Given the description of an element on the screen output the (x, y) to click on. 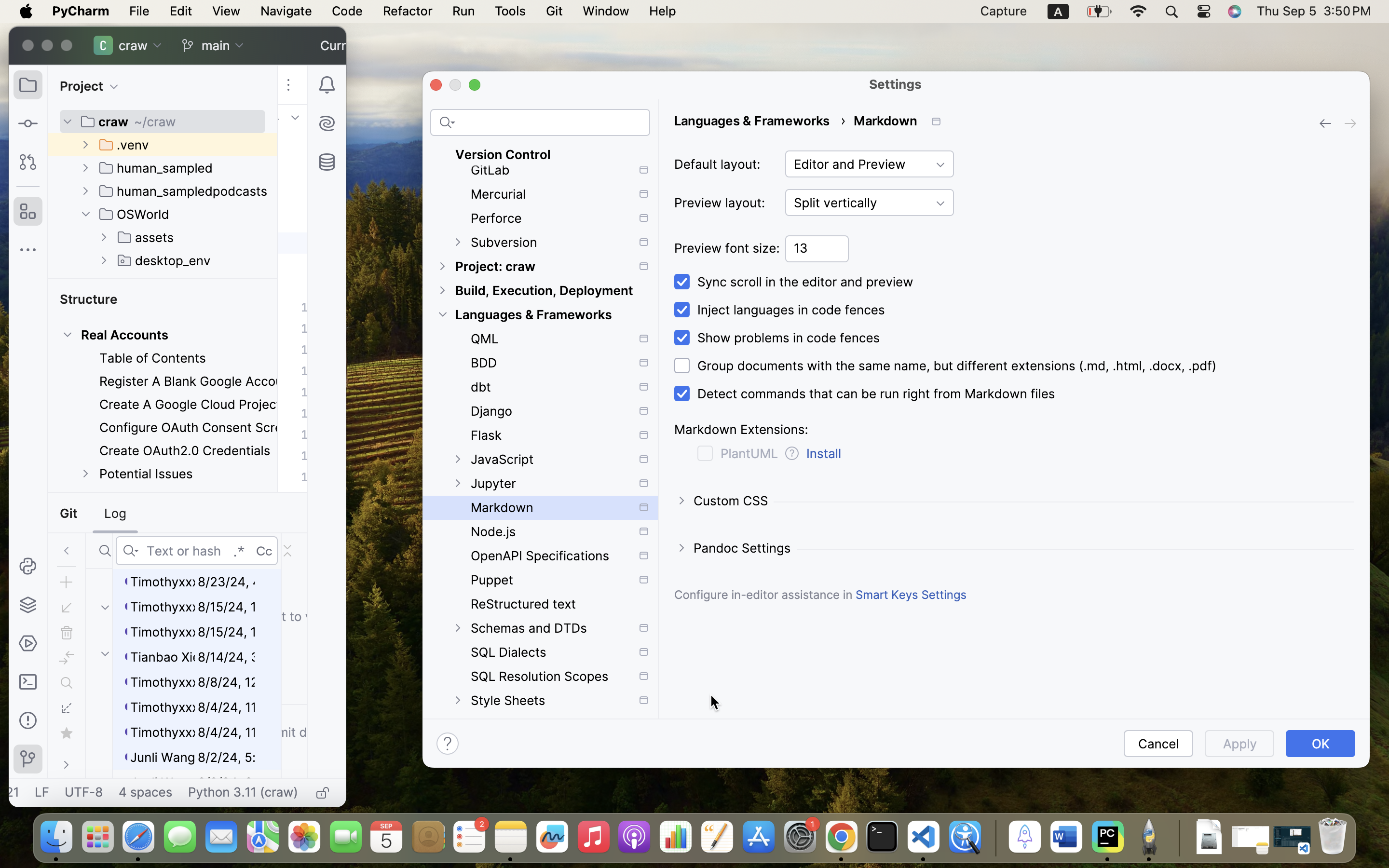
Preview layout: Element type: AXStaticText (719, 202)
Split vertically Element type: AXPopUpButton (869, 202)
1 Element type: AXCheckBox (862, 393)
Settings Element type: AXStaticText (895, 83)
Default layout: Element type: AXStaticText (717, 164)
